Given the description of an element on the screen output the (x, y) to click on. 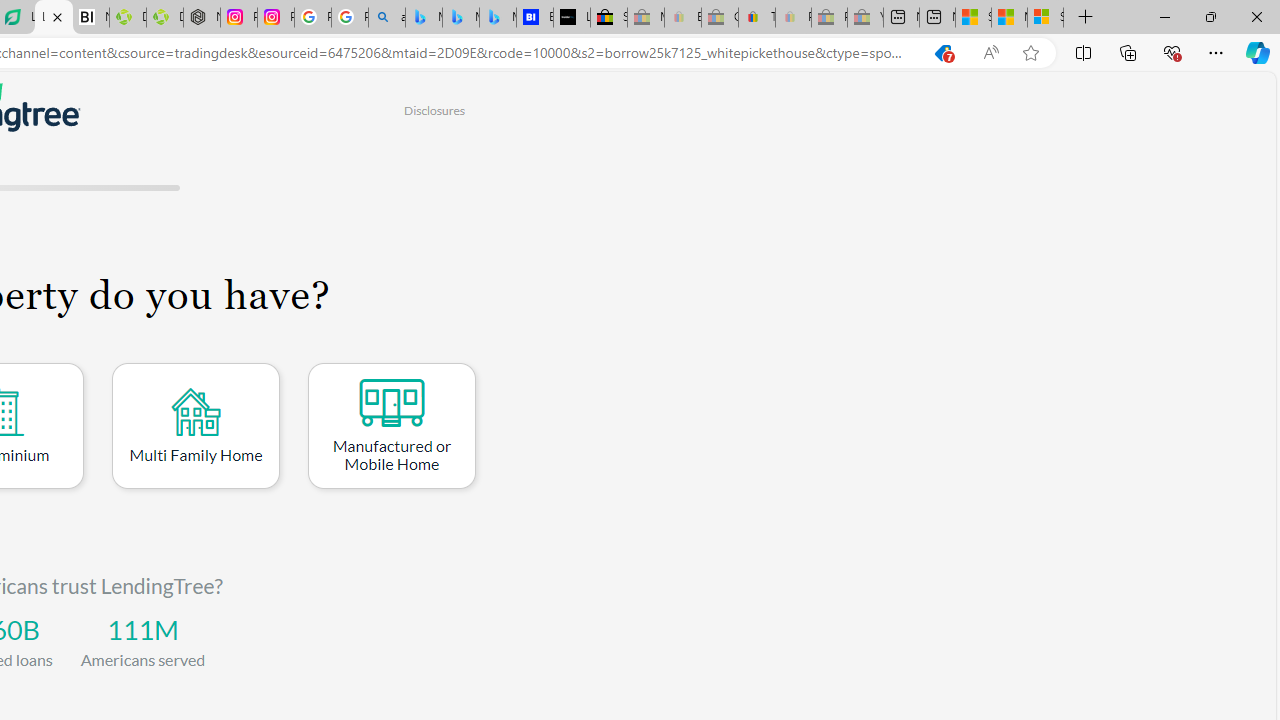
Descarga Driver Updater (165, 17)
Yard, Garden & Outdoor Living - Sleeping (865, 17)
Disclosures (434, 110)
alabama high school quarterback dies - Search (386, 17)
Payments Terms of Use | eBay.com - Sleeping (793, 17)
